Given the description of an element on the screen output the (x, y) to click on. 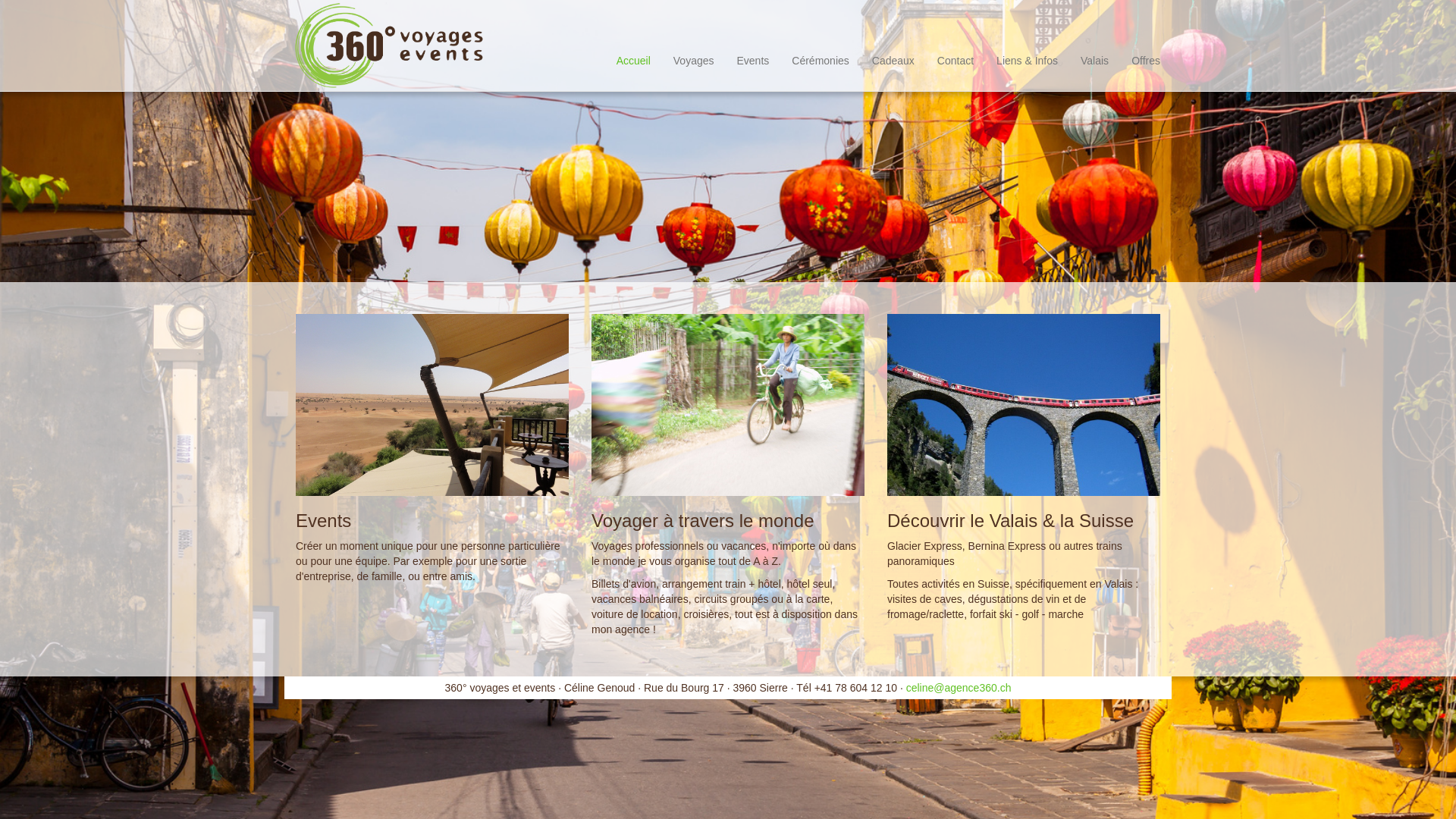
Offres Element type: text (1145, 41)
Valais Element type: text (1094, 41)
Accueil Element type: text (633, 41)
Events Element type: text (752, 41)
Contact Element type: text (955, 41)
celine@agence360.ch Element type: text (958, 687)
Cadeaux Element type: text (892, 41)
Voyages Element type: text (693, 41)
Liens & Infos Element type: text (1027, 41)
